Given the description of an element on the screen output the (x, y) to click on. 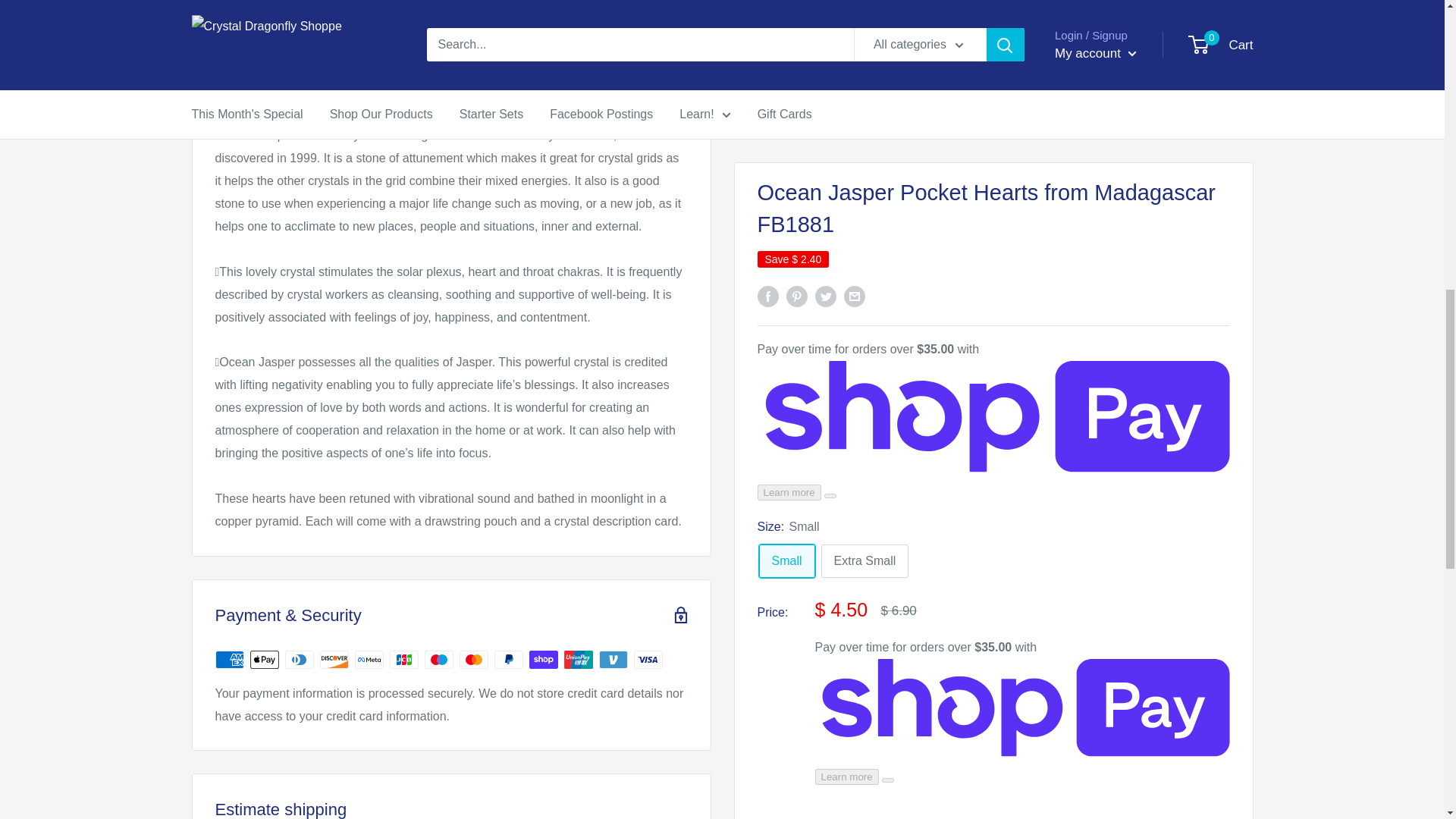
Decrease quantity by 1 (831, 90)
1 (871, 90)
Increase quantity by 1 (912, 90)
